Given the description of an element on the screen output the (x, y) to click on. 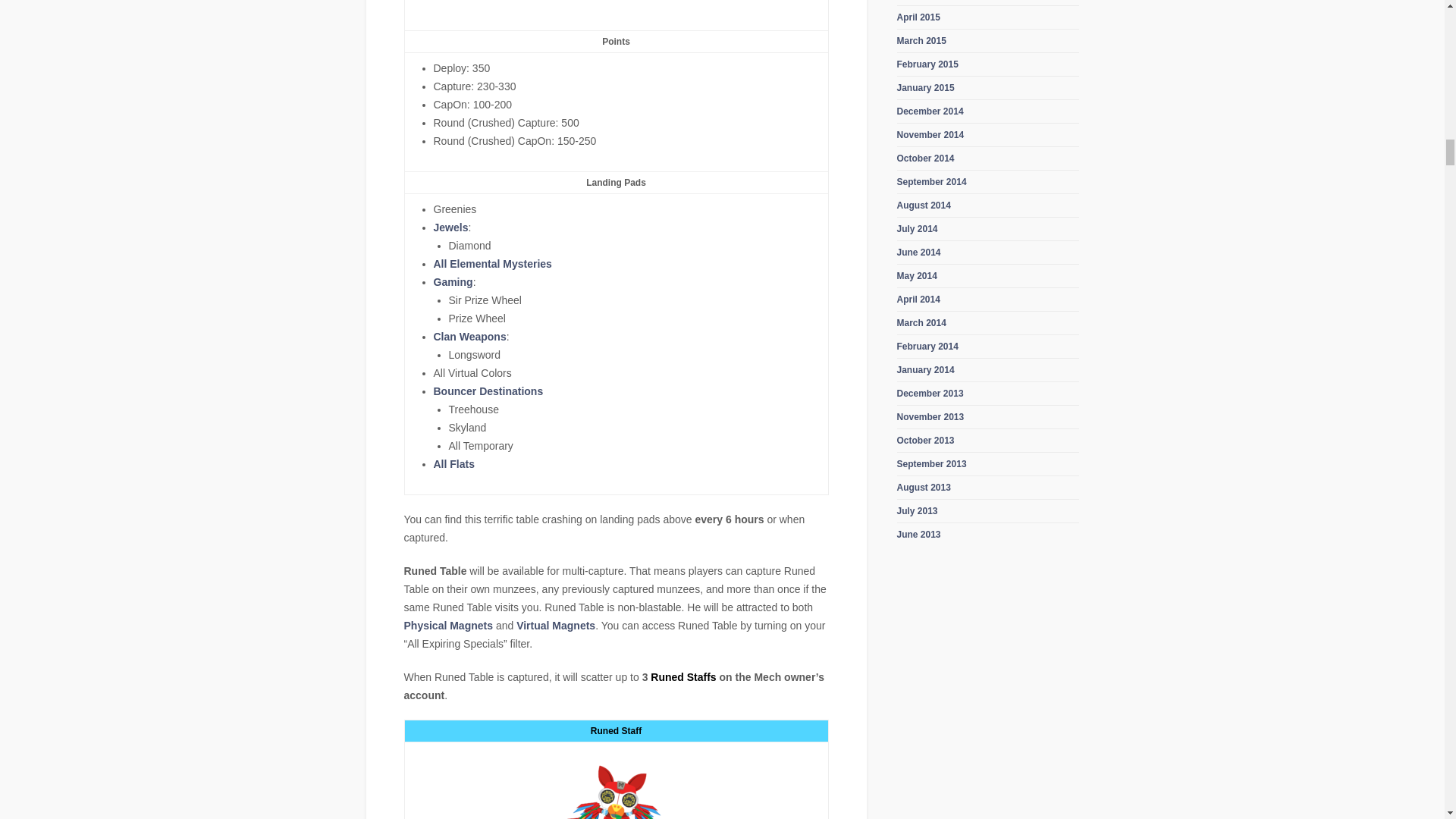
Jewels (450, 227)
